Given the description of an element on the screen output the (x, y) to click on. 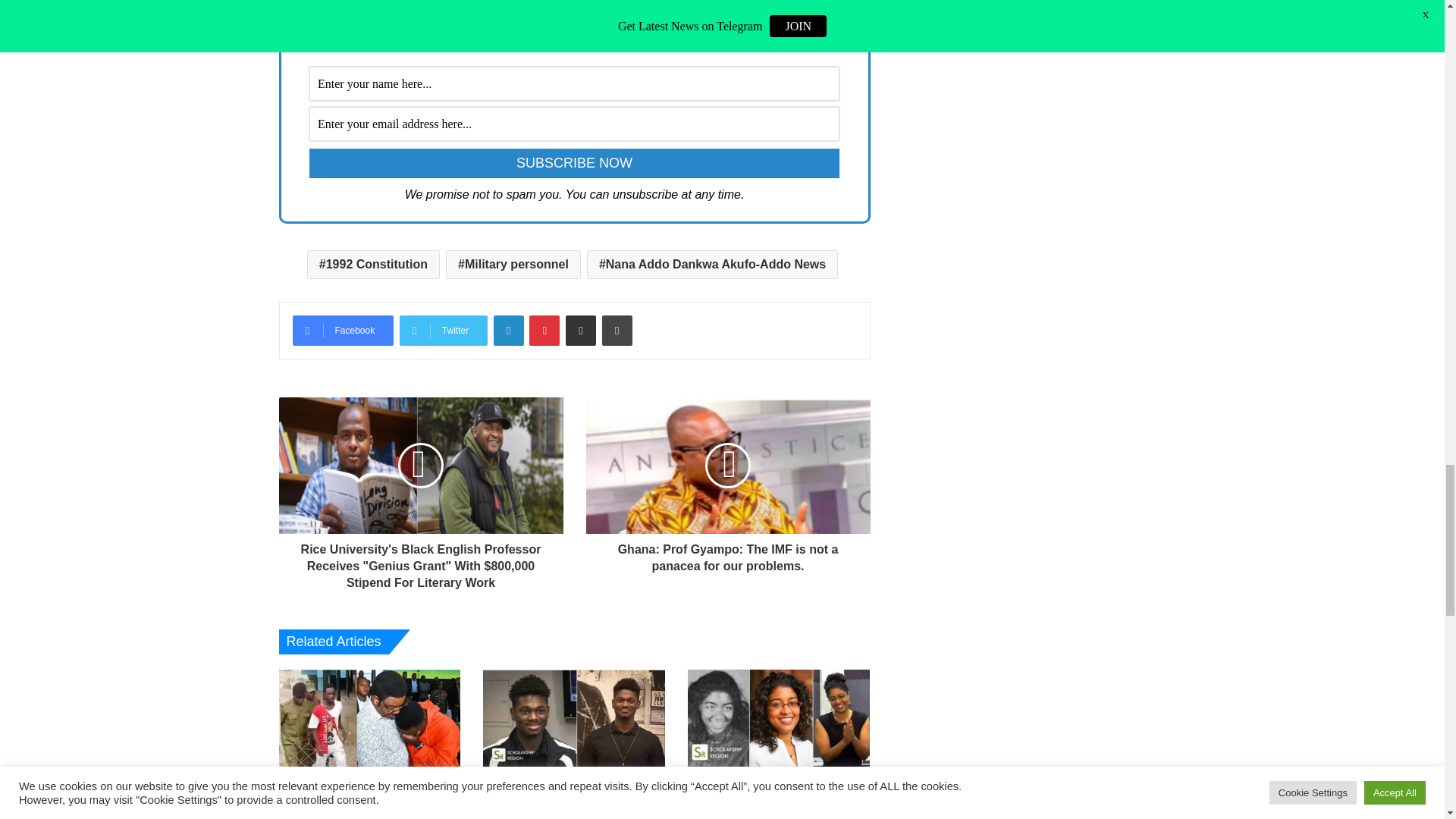
1992 Constitution (373, 264)
Subscribe Now (574, 163)
Subscribe Now (574, 163)
Military personnel (512, 264)
